Given the description of an element on the screen output the (x, y) to click on. 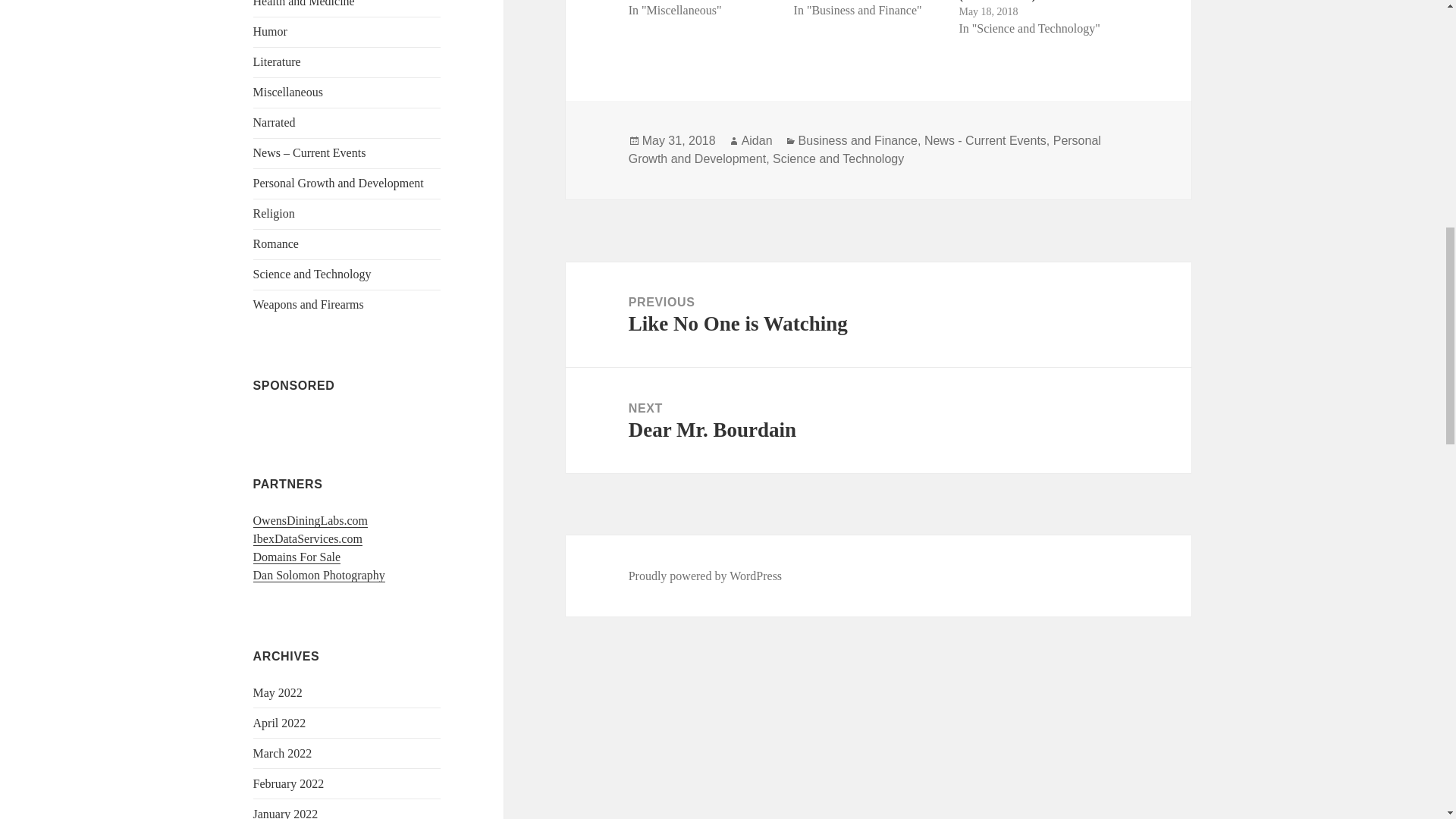
Personal Growth and Development (338, 182)
Humor (269, 31)
Narrated (274, 122)
March 2022 (283, 753)
Miscellaneous (288, 91)
Health and Medicine (304, 3)
Romance (275, 243)
OwensDiningLabs.com (310, 520)
Dan Solomon Photography (319, 575)
Science and Technology (312, 273)
